Given the description of an element on the screen output the (x, y) to click on. 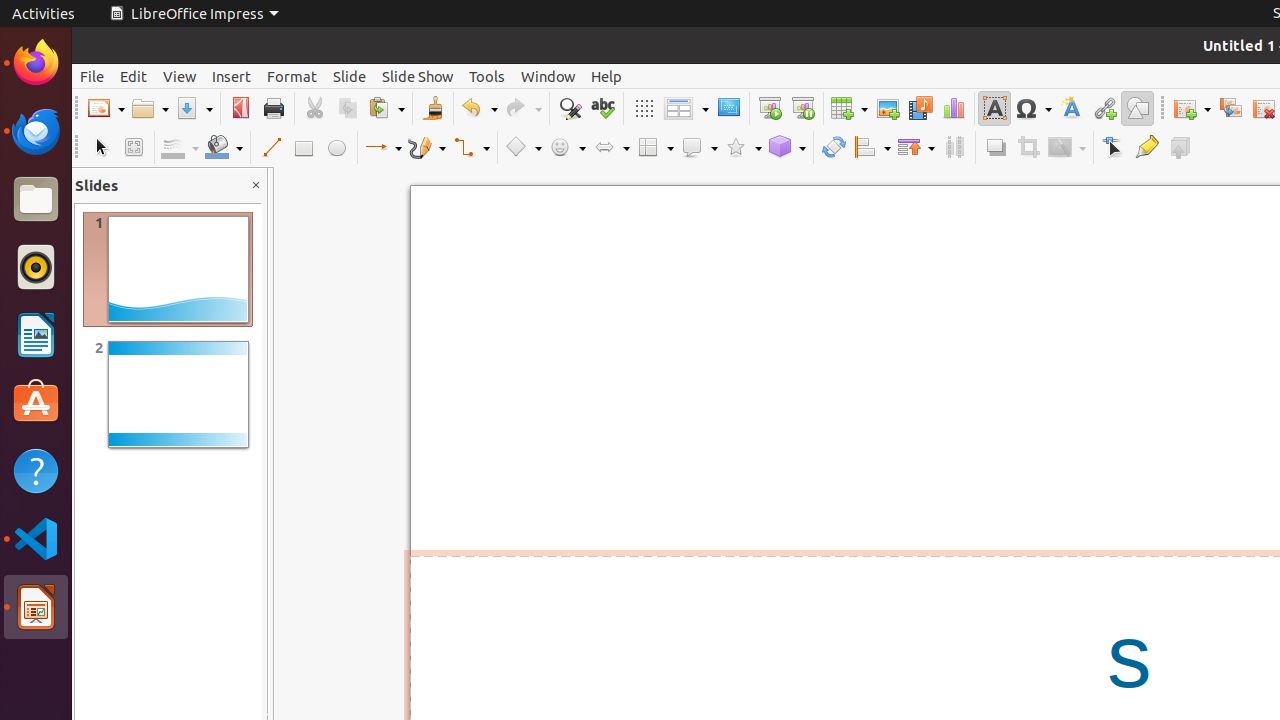
Symbol Element type: push-button (1033, 108)
Line Color Element type: push-button (180, 147)
Connectors Element type: push-button (471, 147)
Slide Element type: menu (349, 76)
